Given the description of an element on the screen output the (x, y) to click on. 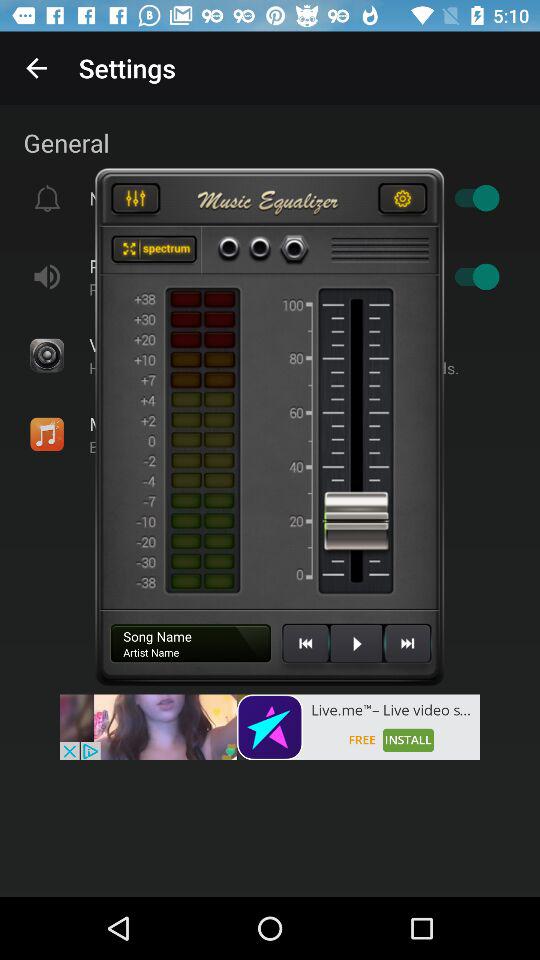
satting (402, 201)
